Given the description of an element on the screen output the (x, y) to click on. 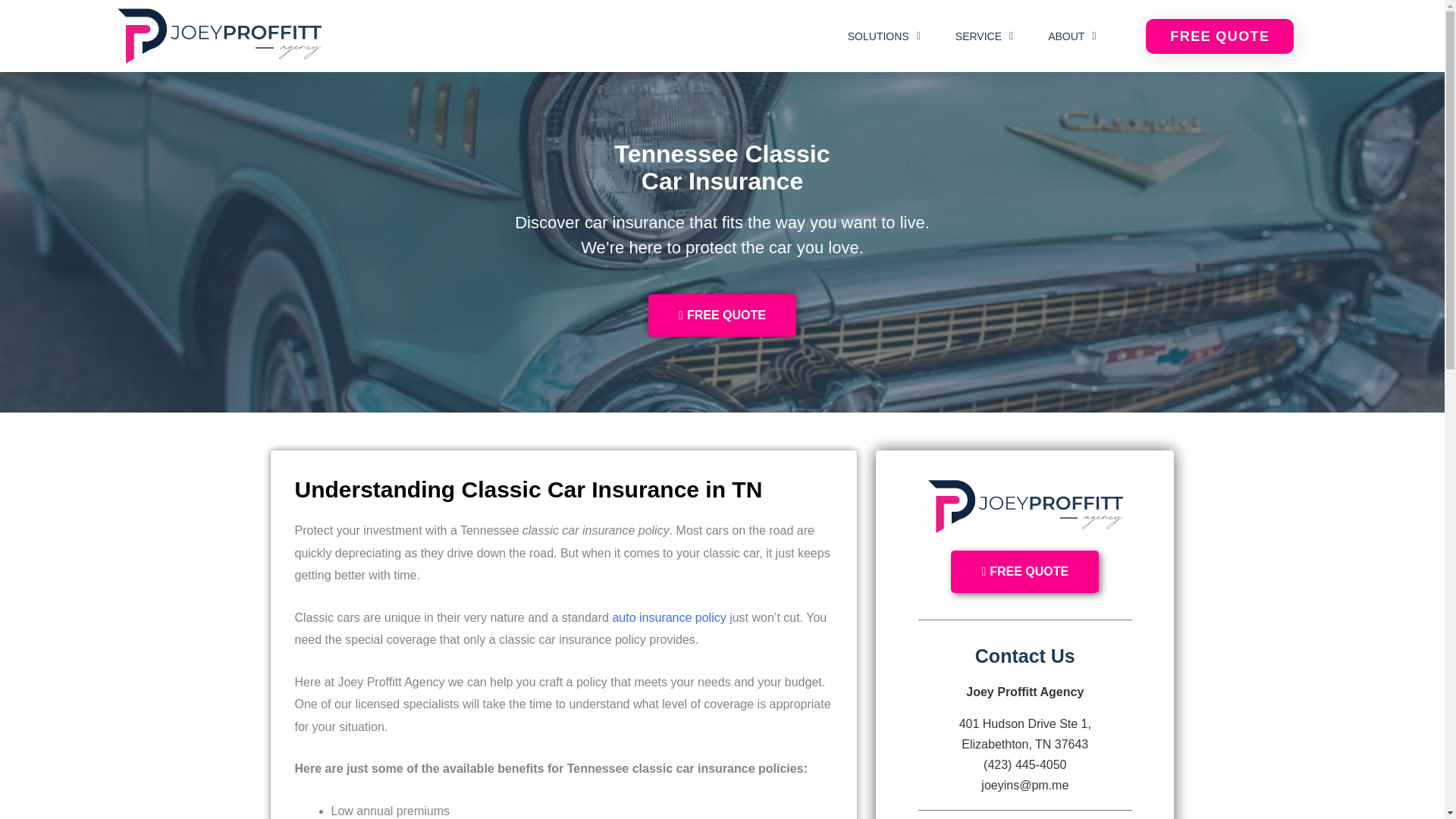
SERVICE (983, 36)
SOLUTIONS (884, 36)
ABOUT (1071, 36)
FREE QUOTE (1219, 36)
